Given the description of an element on the screen output the (x, y) to click on. 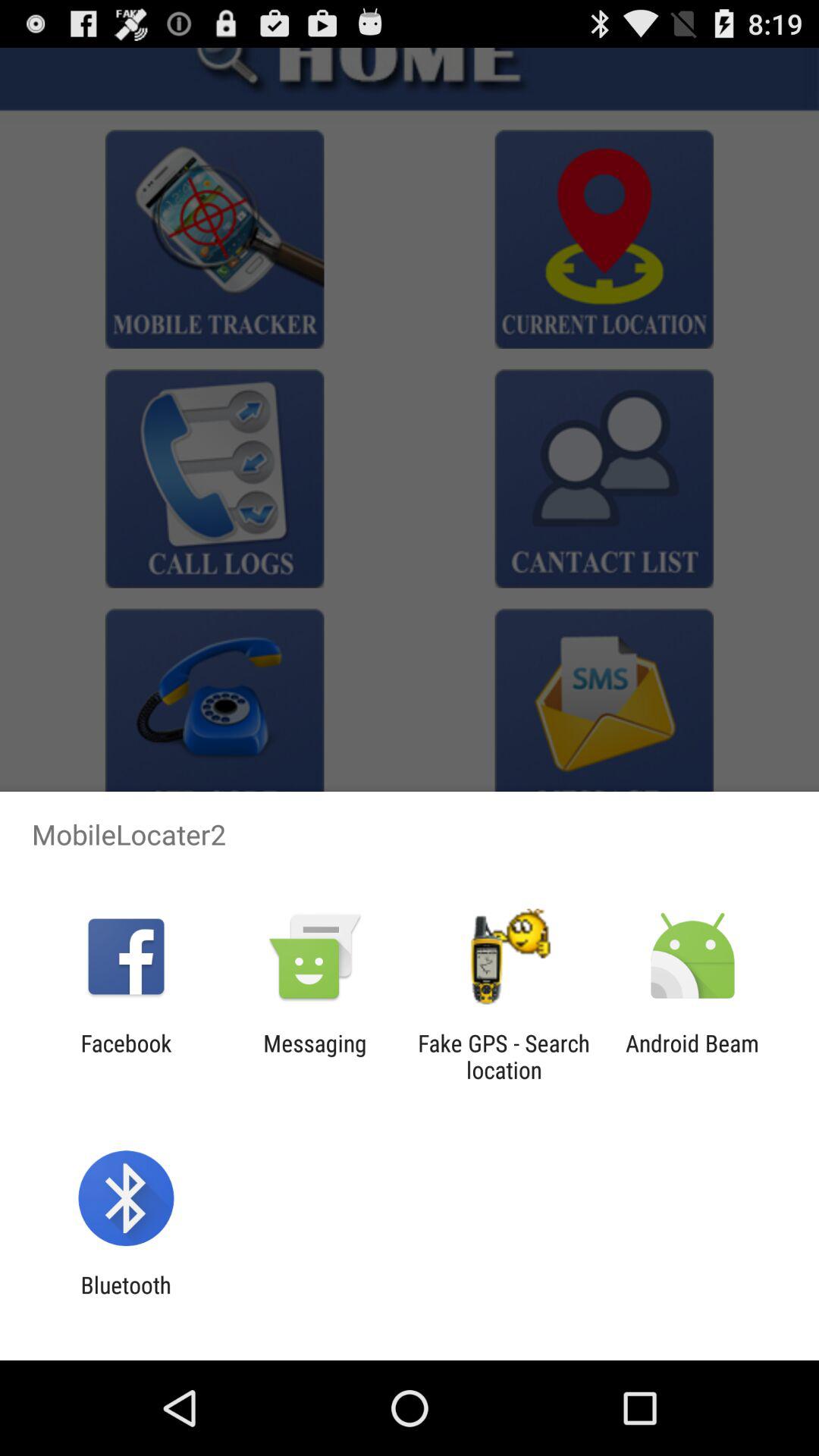
turn on item next to messaging app (125, 1056)
